Given the description of an element on the screen output the (x, y) to click on. 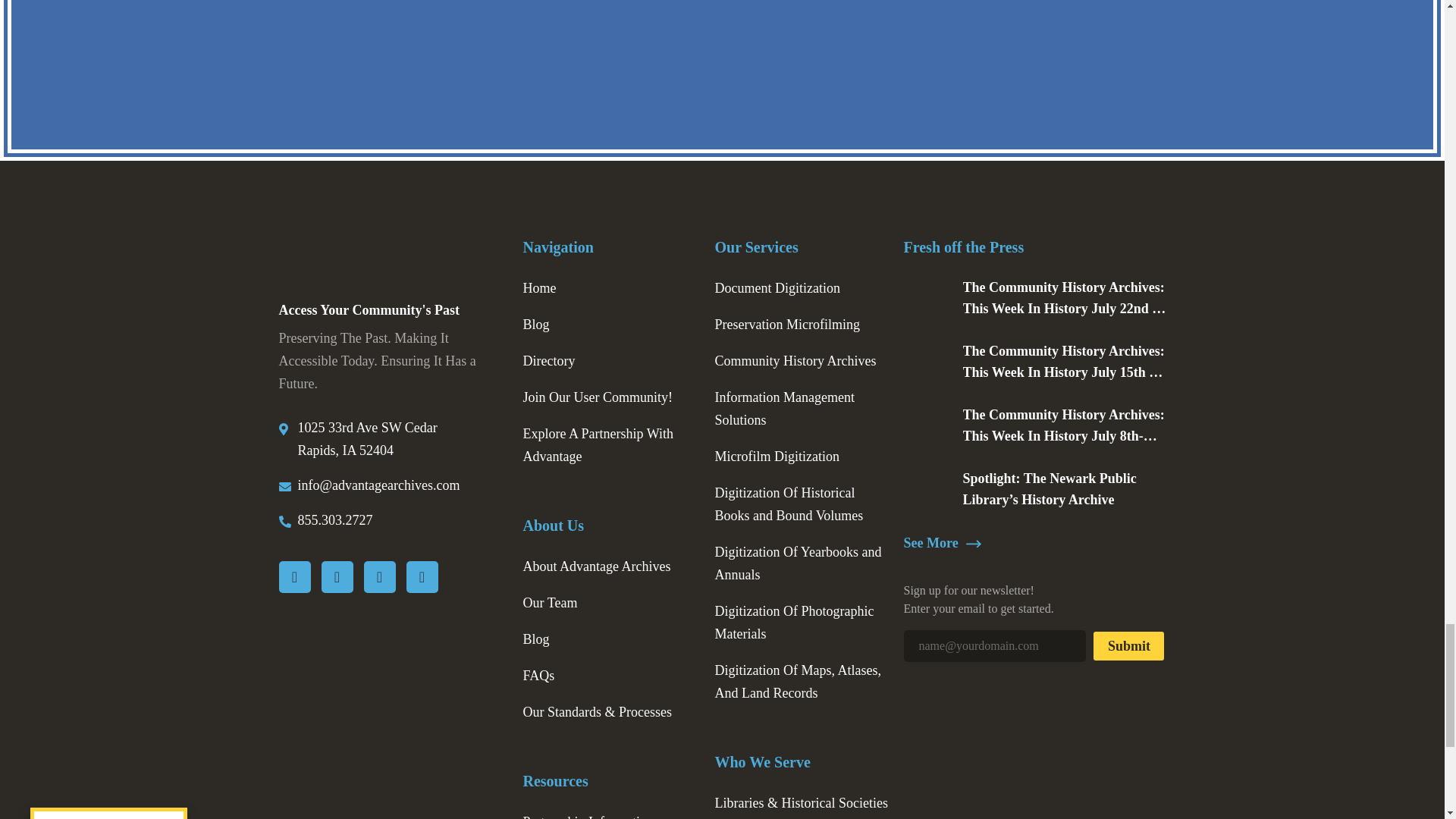
Submit (1129, 645)
